Given the description of an element on the screen output the (x, y) to click on. 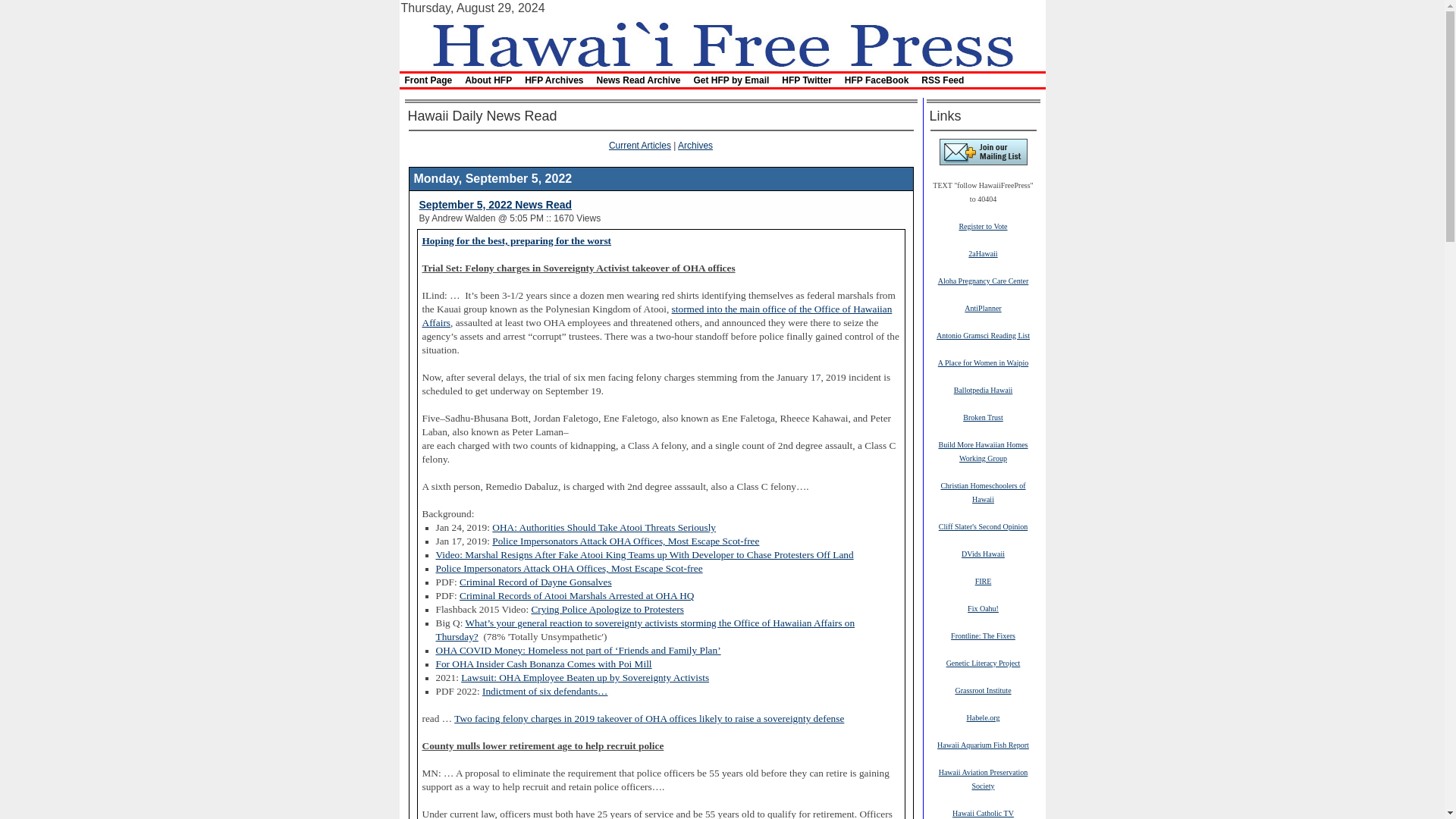
Lawsuit: OHA Employee Beaten up by Sovereignty Activists (585, 677)
Current Articles (639, 145)
Crying Police Apologize to Protesters (606, 609)
Archives (695, 145)
Hawaii Free Press (721, 42)
